Given the description of an element on the screen output the (x, y) to click on. 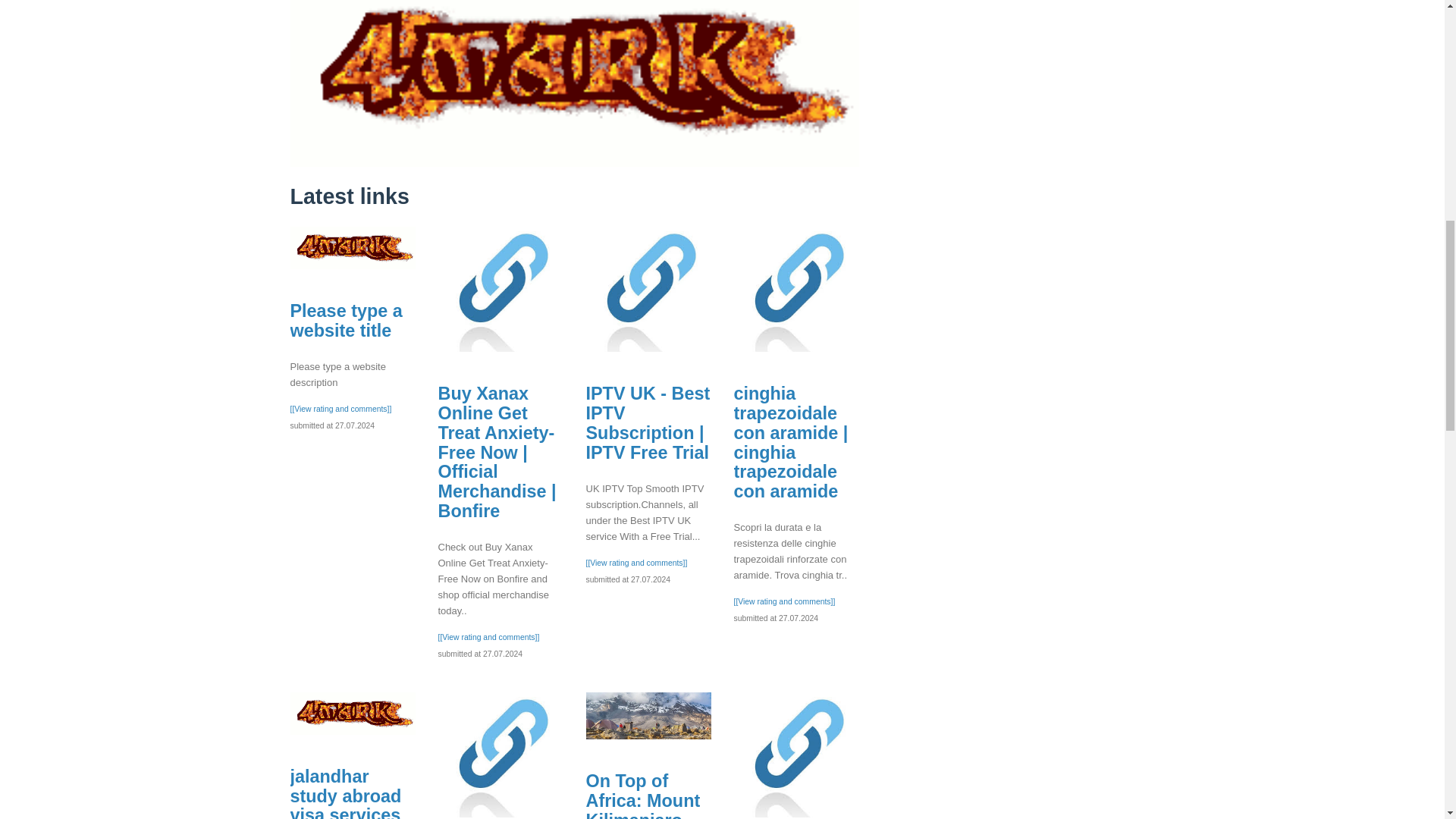
Click to view! (574, 70)
Franklin Roof Pros (796, 754)
jalandhar study abroad visa services (351, 713)
Please type a website title (345, 320)
jalandhar study abroad visa services (345, 792)
Please type a website title (351, 247)
